Given the description of an element on the screen output the (x, y) to click on. 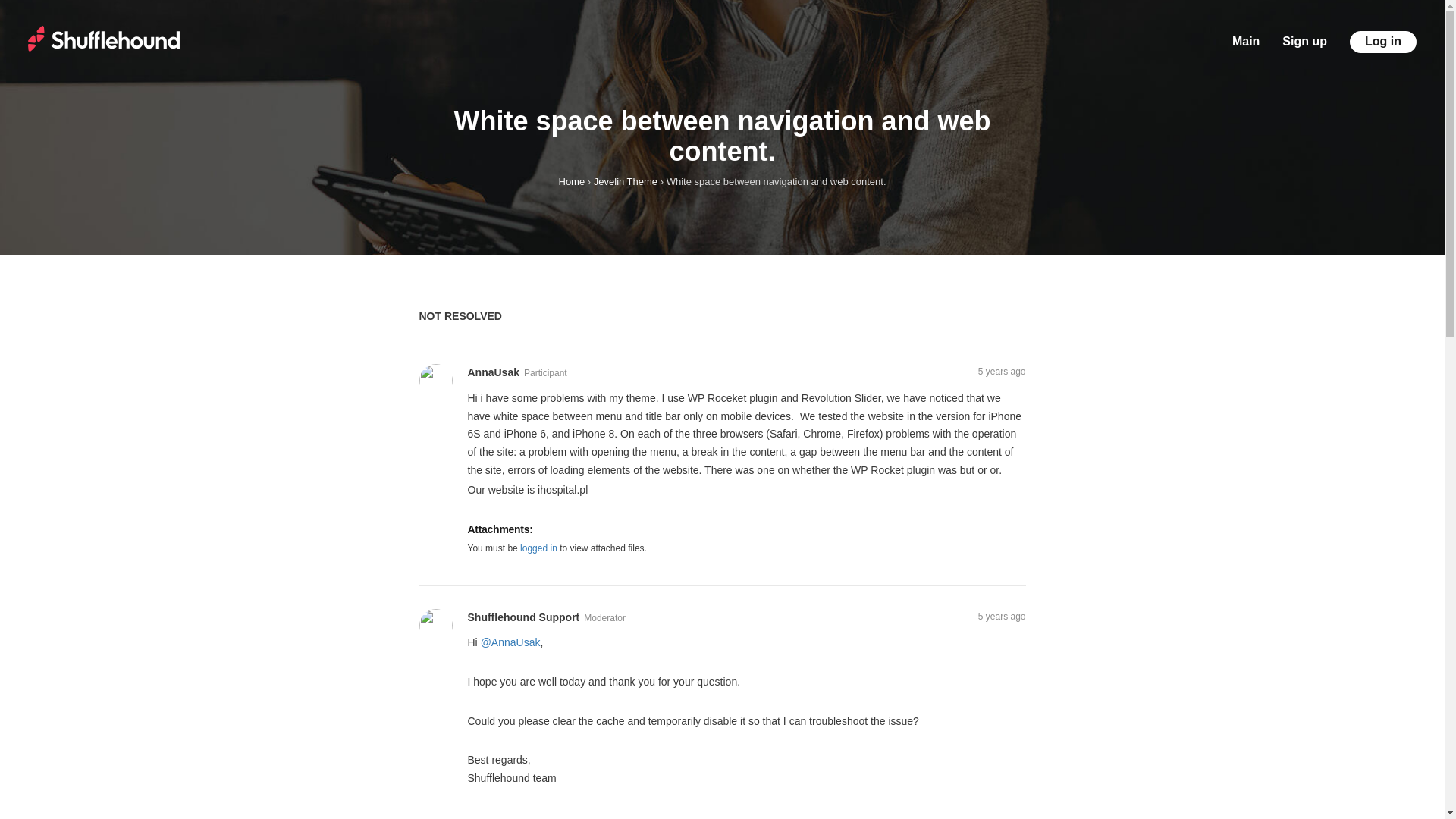
NOT RESOLVED (465, 316)
Home (571, 181)
View AnnaUsak's profile (436, 379)
AnnaUsak (492, 372)
5 years ago (1002, 615)
logged in (538, 547)
View AnnaUsak's profile (492, 372)
Shufflehound Support (523, 618)
Shufflehound Support Center (103, 38)
View Shufflehound Support's profile (436, 624)
